Given the description of an element on the screen output the (x, y) to click on. 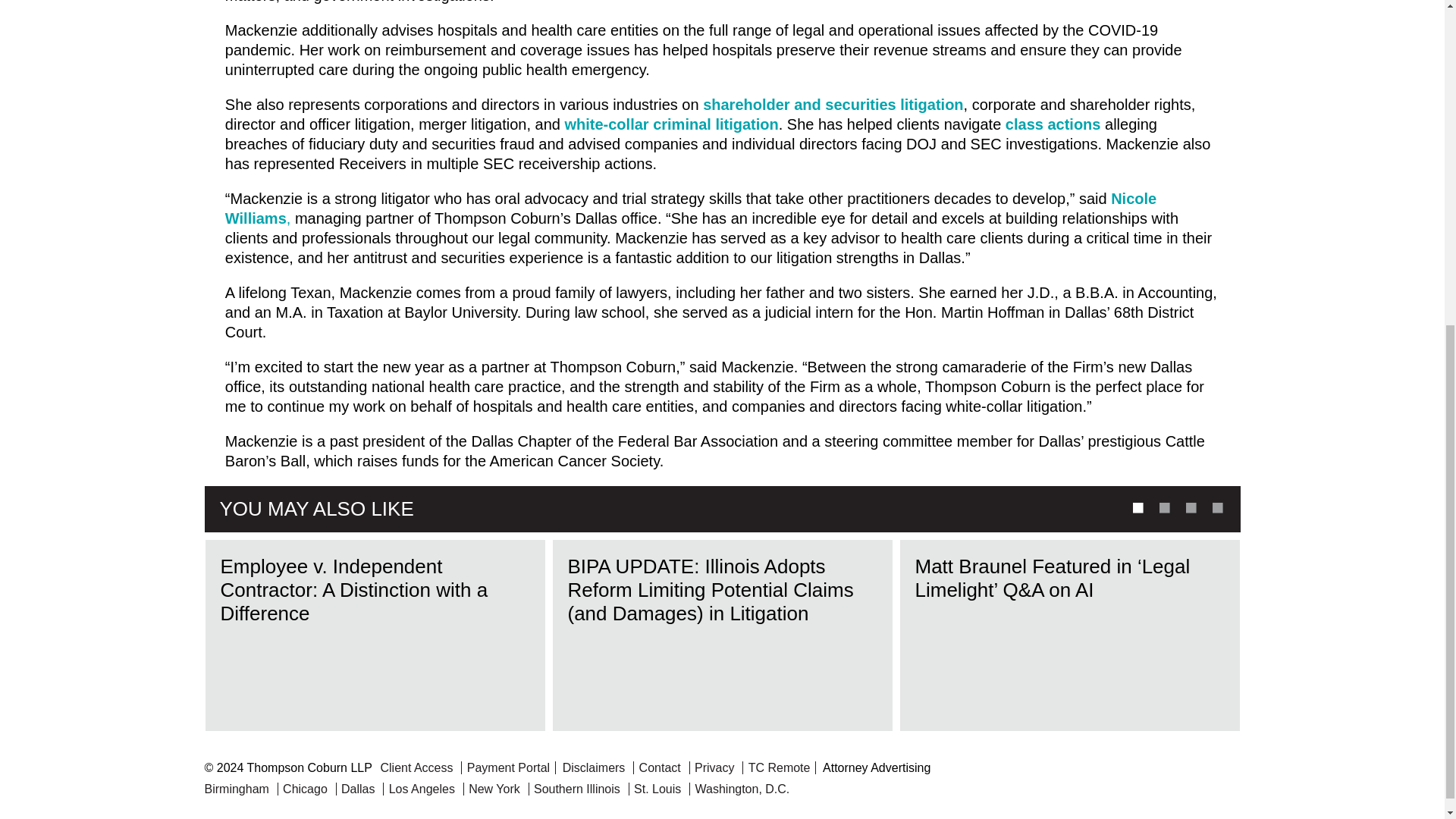
white-collar criminal litigation (670, 124)
1 (1135, 506)
2 (1162, 506)
4 (1216, 506)
shareholder and securities litigation (832, 104)
Nicole Williams, (690, 208)
3 (1189, 506)
class actions (1053, 124)
